Given the description of an element on the screen output the (x, y) to click on. 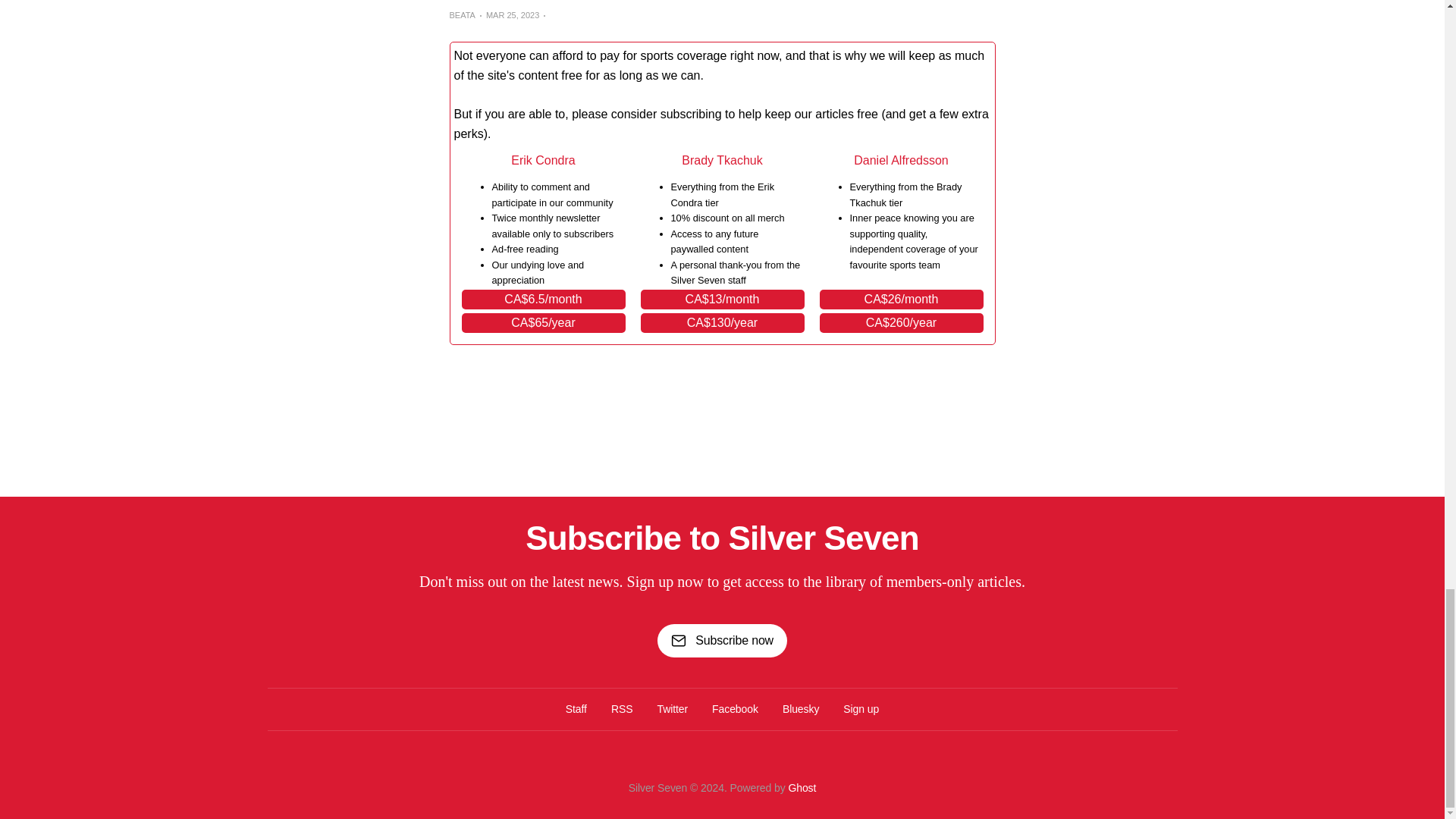
Subscribe now (722, 640)
Sign up (861, 709)
Twitter (671, 709)
Staff (576, 709)
Bluesky (800, 709)
Facebook (734, 709)
RSS (622, 709)
